Given the description of an element on the screen output the (x, y) to click on. 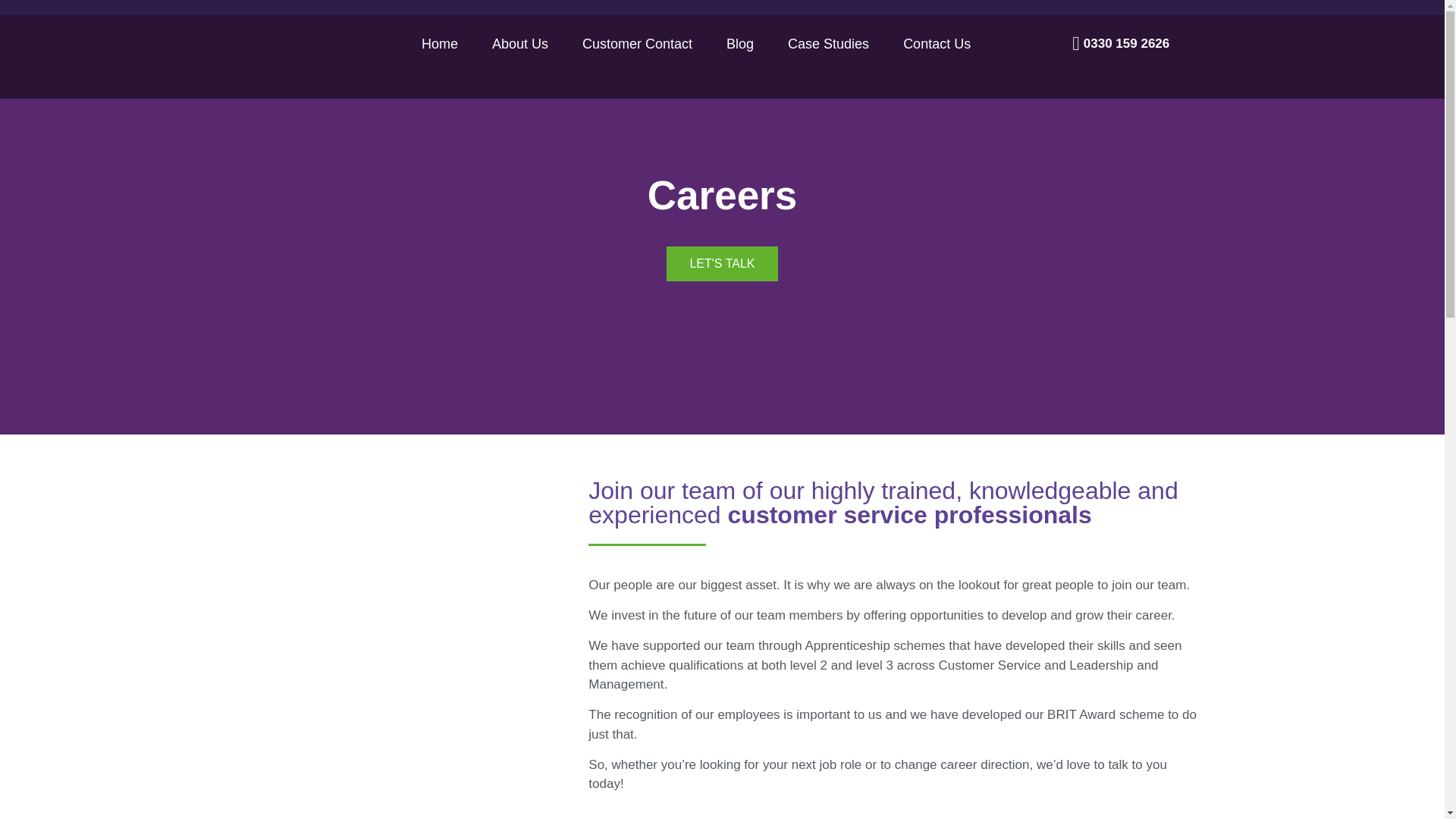
Customer Contact (637, 43)
Contact Us (936, 43)
About Us (520, 43)
Blog (739, 43)
Case Studies (828, 43)
Home (439, 43)
